Given the description of an element on the screen output the (x, y) to click on. 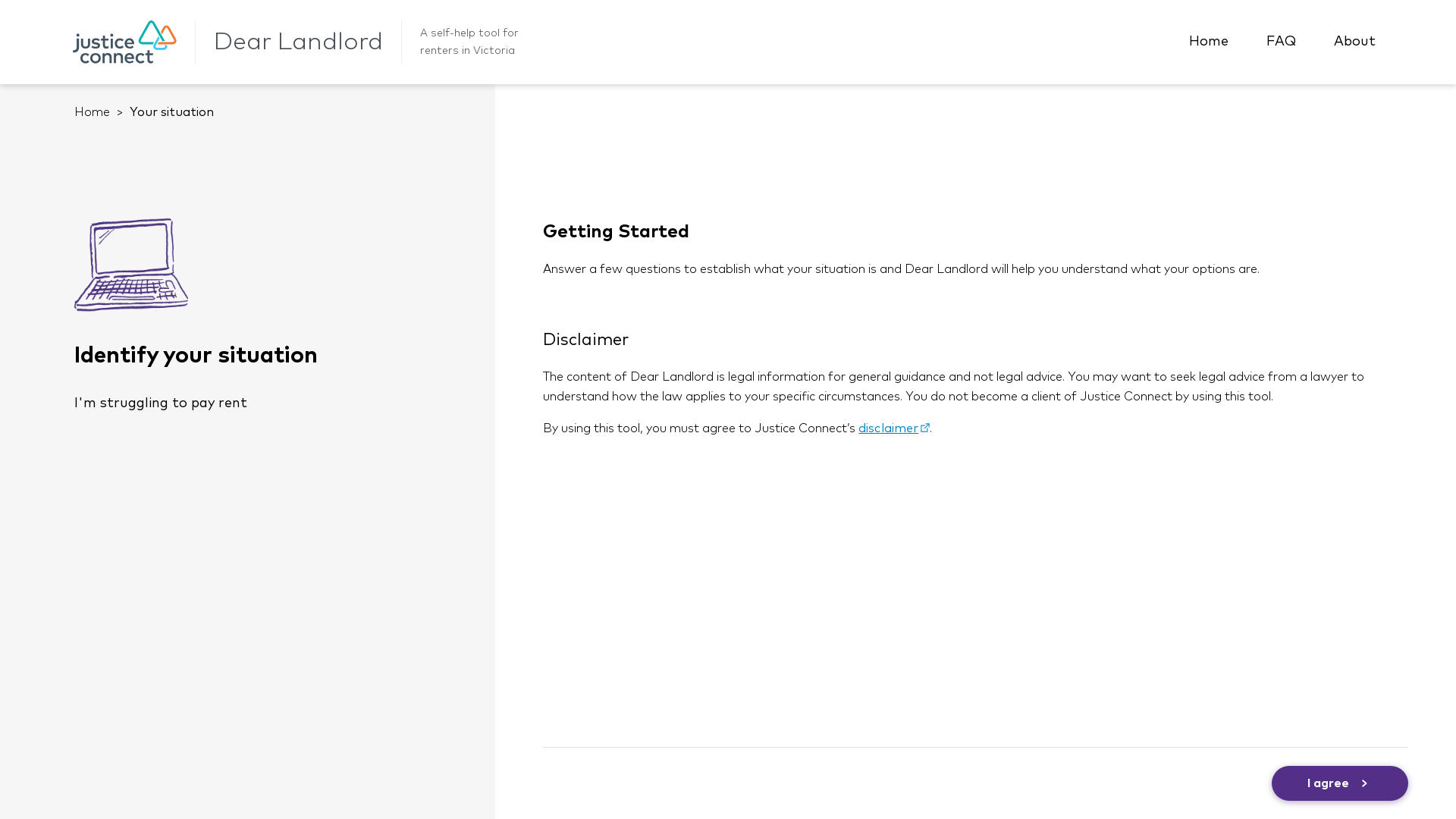
FAQ Element type: text (1280, 42)
disclaimer Element type: text (893, 428)
Dear Landlord Element type: text (297, 41)
Home Element type: text (1208, 42)
Home Element type: text (91, 112)
Justice Connect logo Element type: hover (124, 41)
About Element type: text (1354, 42)
I agree Element type: text (1339, 782)
